Given the description of an element on the screen output the (x, y) to click on. 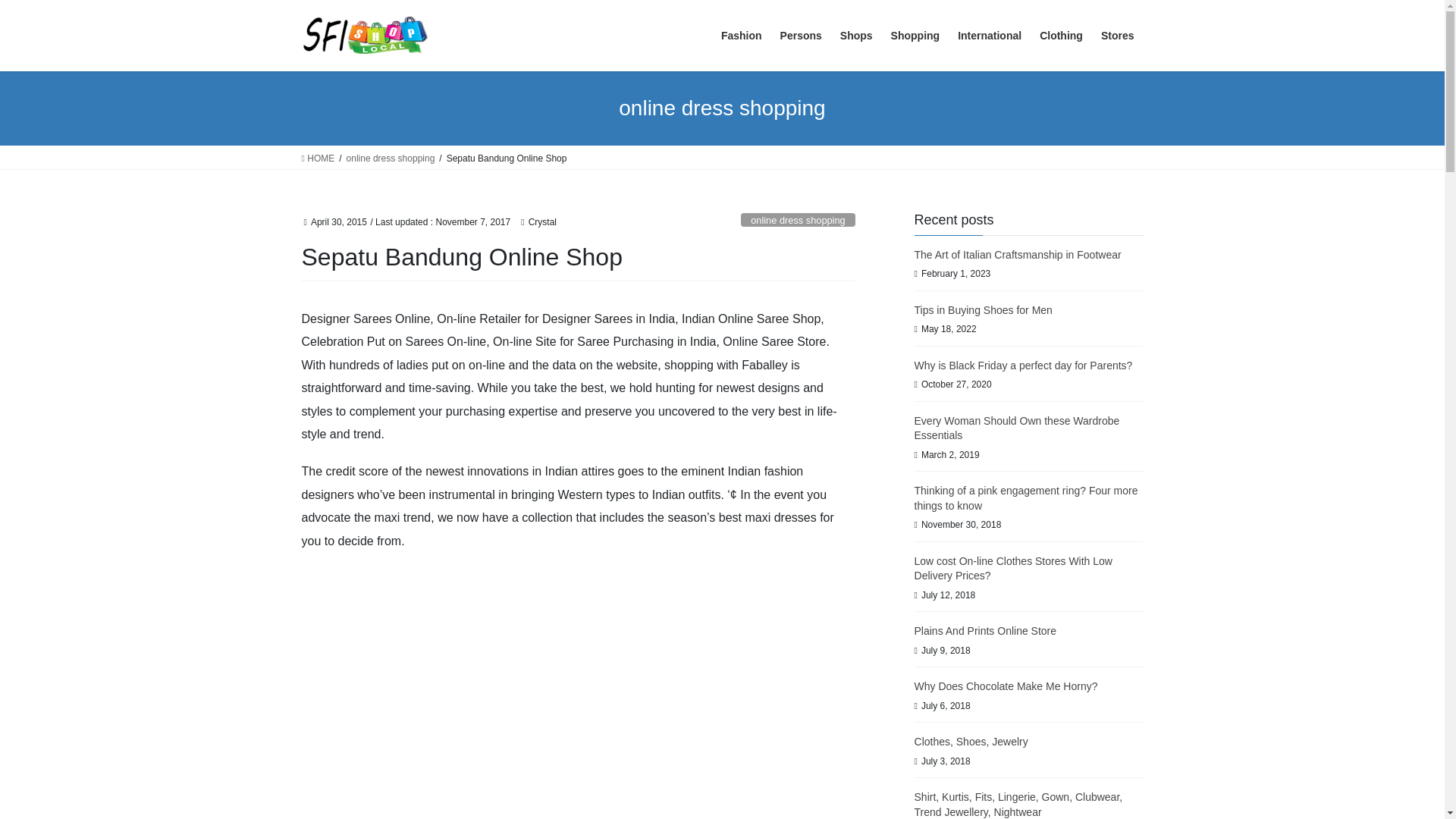
Shopping (915, 36)
Fashion (741, 36)
International (989, 36)
Clothing (1061, 36)
Stores (1117, 36)
Persons (801, 36)
Shops (856, 36)
